Given the description of an element on the screen output the (x, y) to click on. 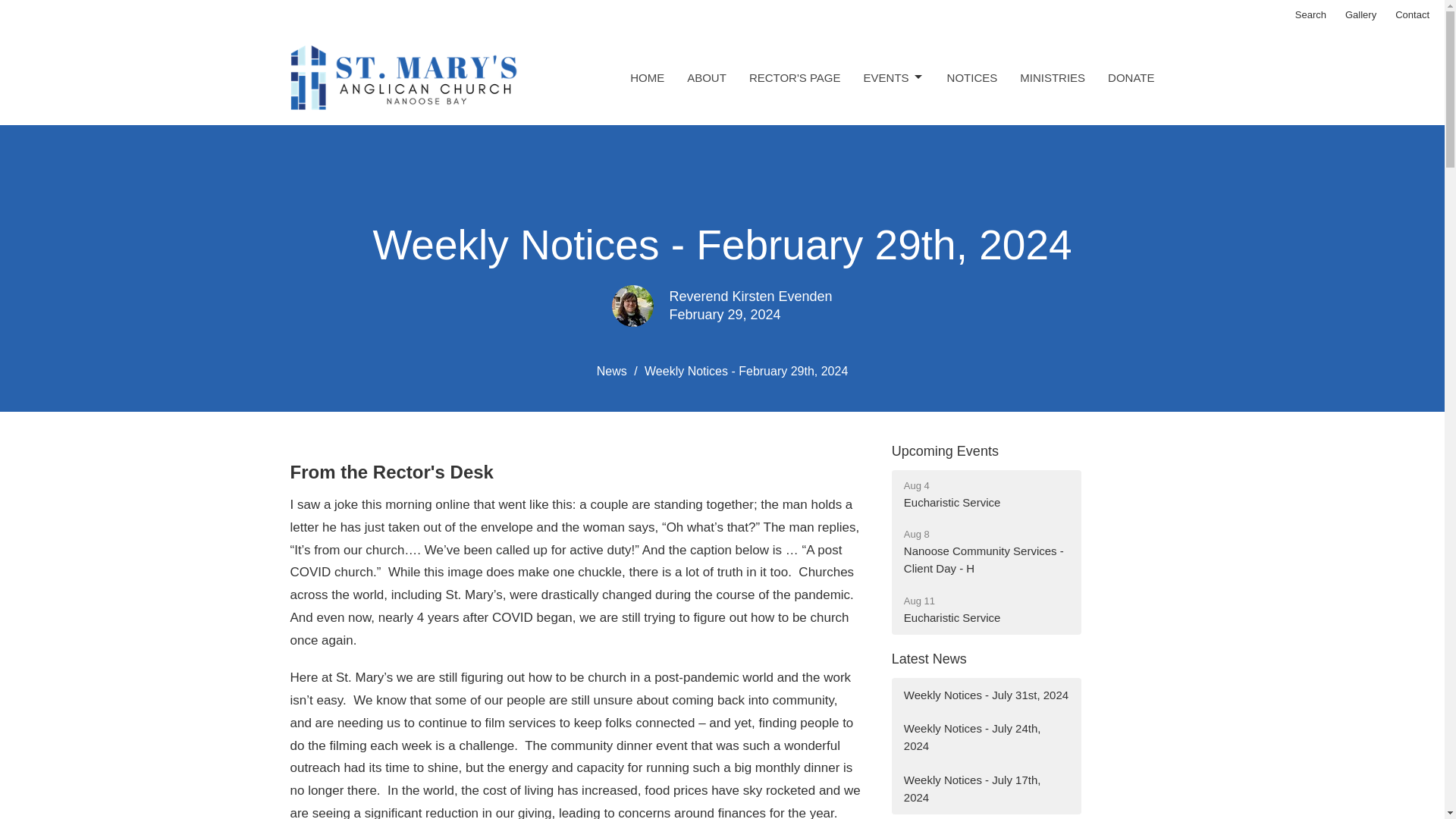
Search (1310, 15)
Gallery (1361, 15)
NOTICES (972, 77)
Upcoming Events (986, 552)
Weekly Notices - July 17th, 2024 (944, 450)
HOME (986, 494)
Contact (986, 788)
MINISTRIES (646, 77)
